Given the description of an element on the screen output the (x, y) to click on. 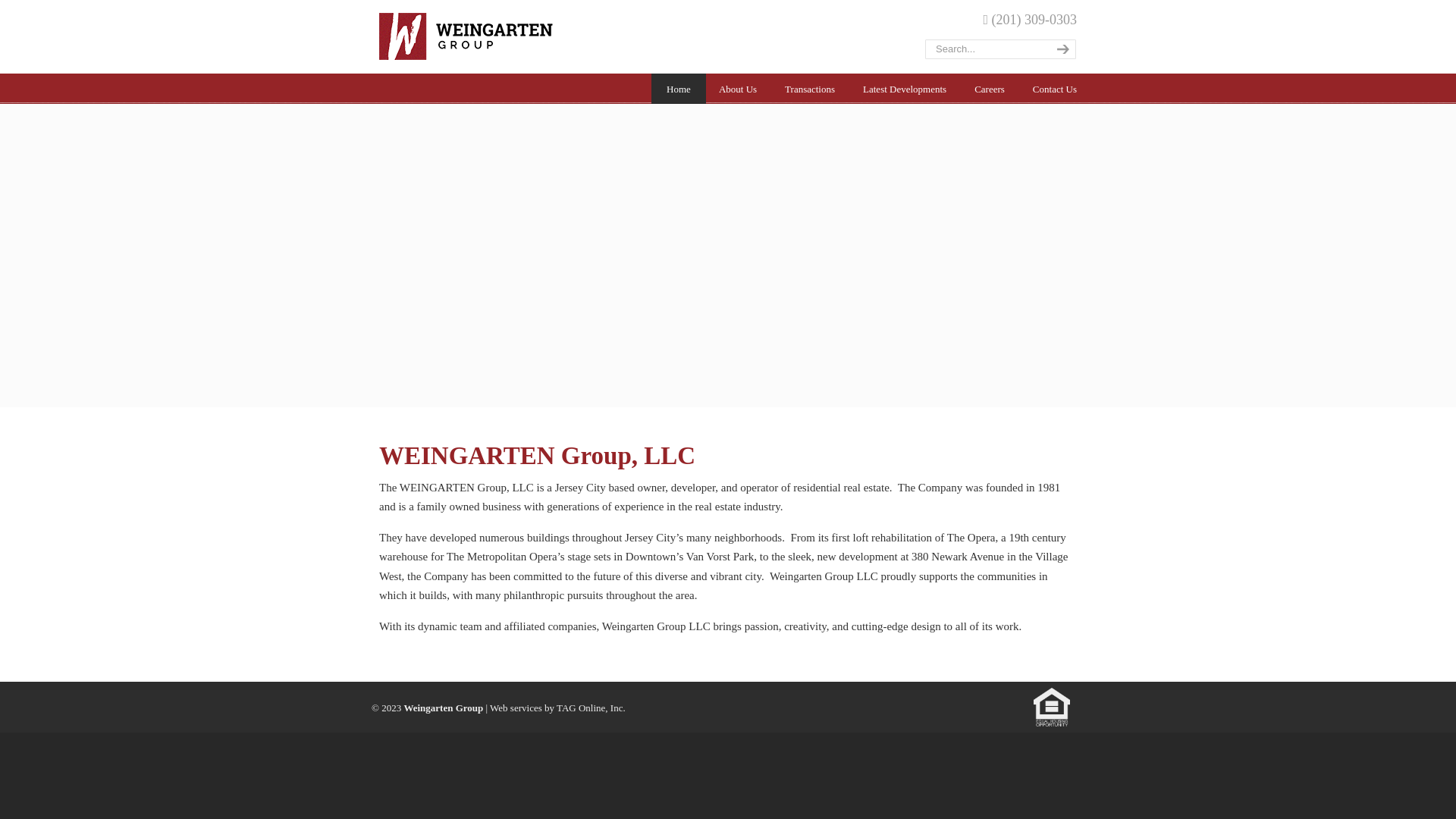
TAG Online, Inc. (591, 707)
Transactions (810, 89)
search (1060, 48)
About Us (737, 89)
Home (678, 89)
search (1060, 48)
Contact Us (1054, 89)
Latest Developments (903, 89)
Careers (989, 89)
Search... (984, 48)
